Given the description of an element on the screen output the (x, y) to click on. 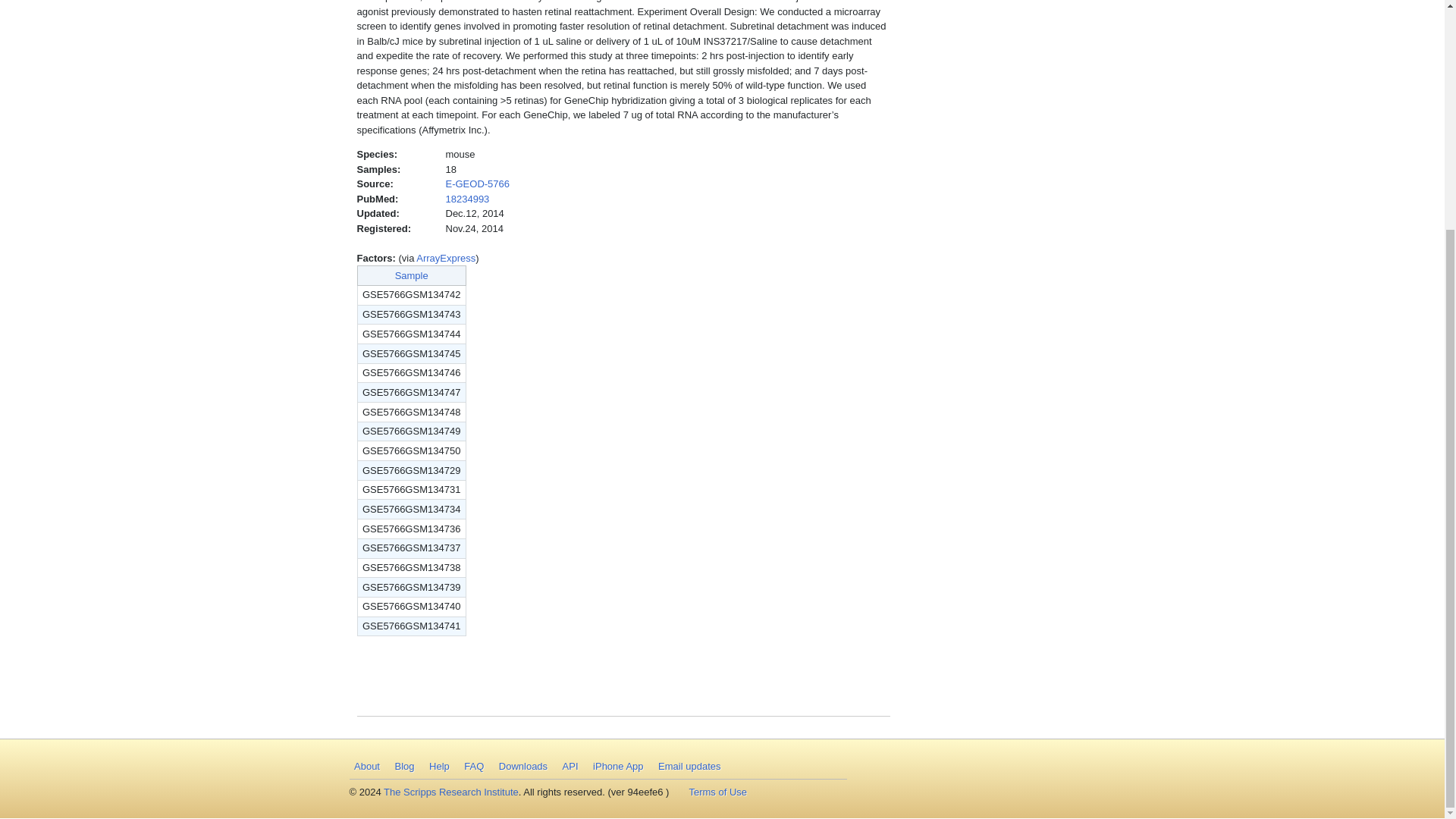
FAQ (474, 766)
The Scripps Research Institute (451, 791)
API (570, 766)
About (366, 766)
Downloads (522, 766)
iPhone App (618, 766)
ArrayExpress (446, 257)
Email updates (689, 766)
18234993 (467, 198)
E-GEOD-5766 (478, 183)
Help (439, 766)
Blog (404, 766)
Terms of Use (718, 791)
